Given the description of an element on the screen output the (x, y) to click on. 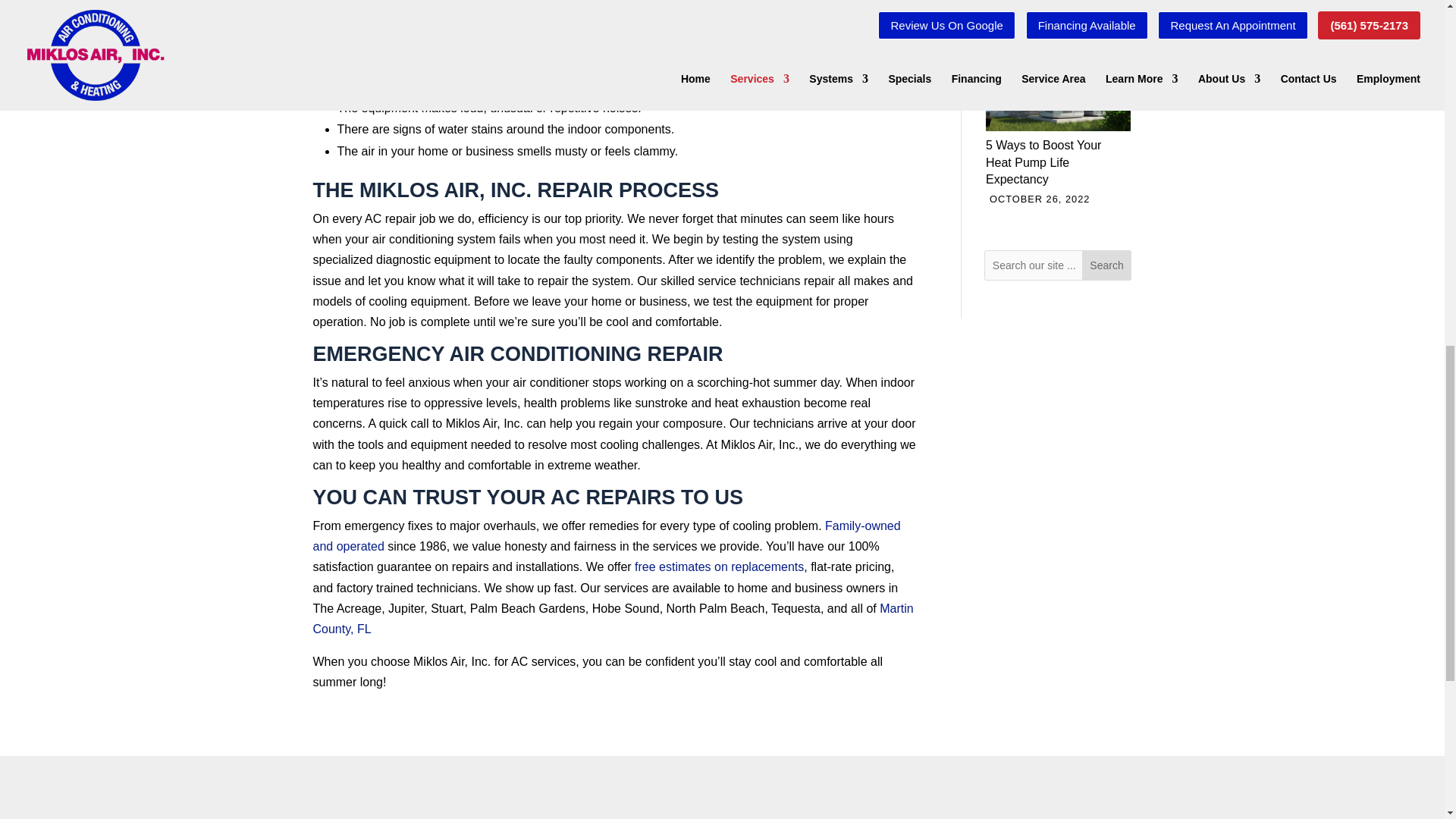
Martin County, FL (612, 618)
free estimates on replacements (718, 566)
Family-owned and operated (606, 535)
3 Signs of An Inefficient Heat Pump in Jupiter, FL (1058, 2)
